Given the description of an element on the screen output the (x, y) to click on. 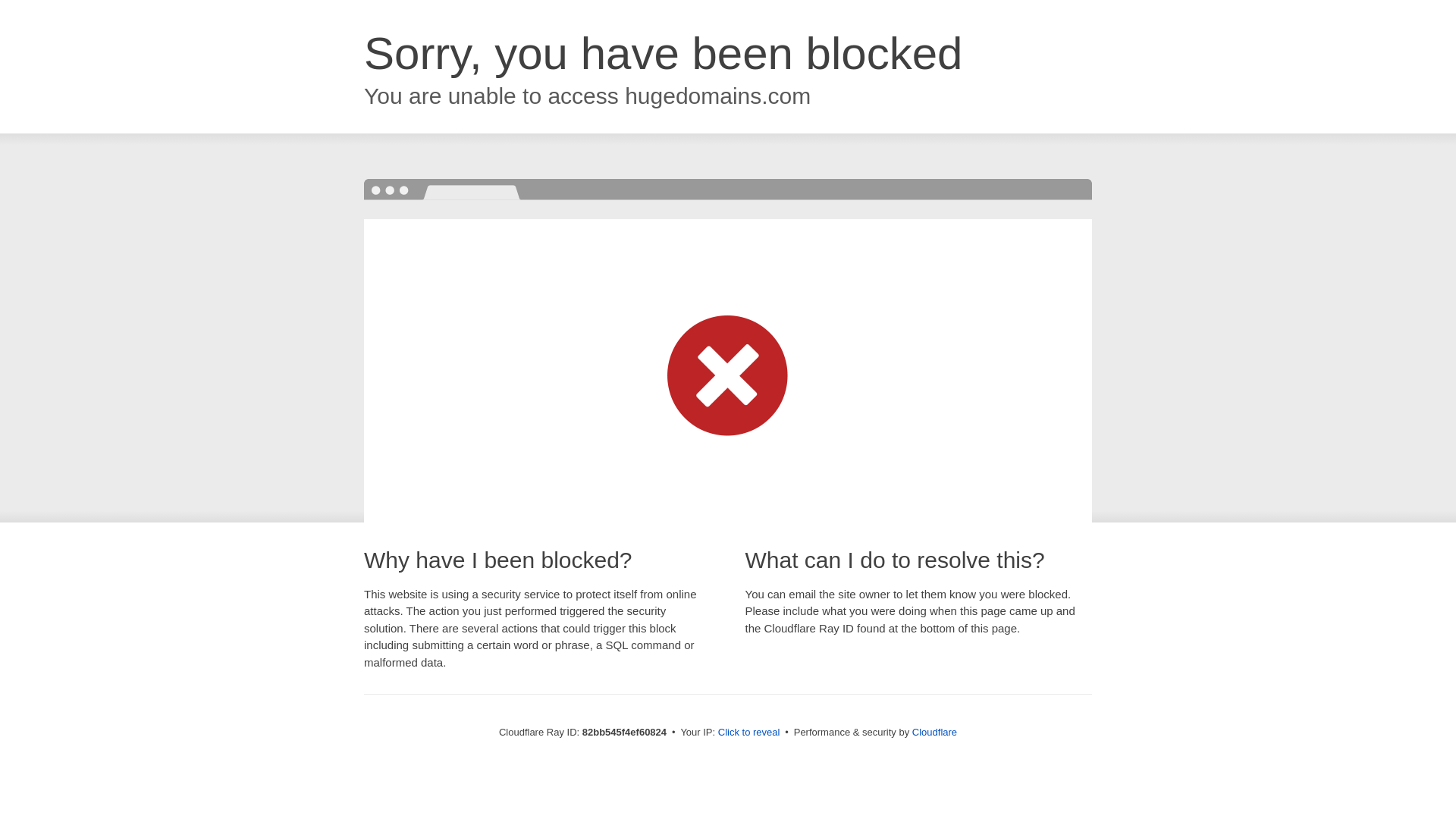
Click to reveal Element type: text (749, 732)
Cloudflare Element type: text (934, 731)
